Given the description of an element on the screen output the (x, y) to click on. 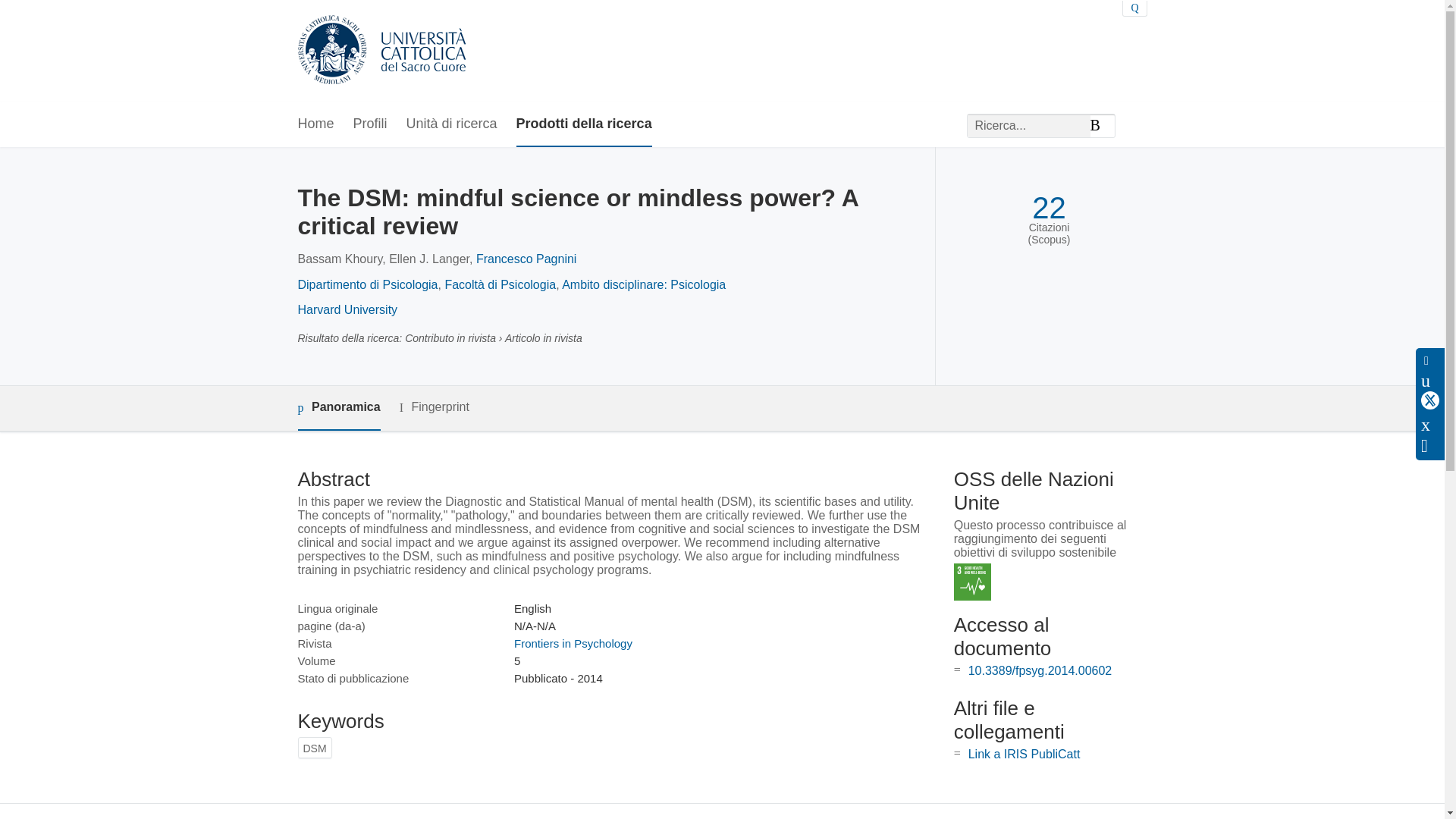
Dipartimento di Psicologia (367, 284)
PubliRES - Publications, Research, Expertise and Skills Home (380, 50)
22 (1048, 207)
Ambito disciplinare: Psicologia (643, 284)
OSS 3 - Salute e benessere (972, 581)
Prodotti della ricerca (584, 124)
Link a IRIS PubliCatt (1024, 753)
Fingerprint (433, 407)
Francesco Pagnini (526, 258)
Harvard University (347, 309)
Panoramica (338, 407)
Frontiers in Psychology (572, 643)
